Given the description of an element on the screen output the (x, y) to click on. 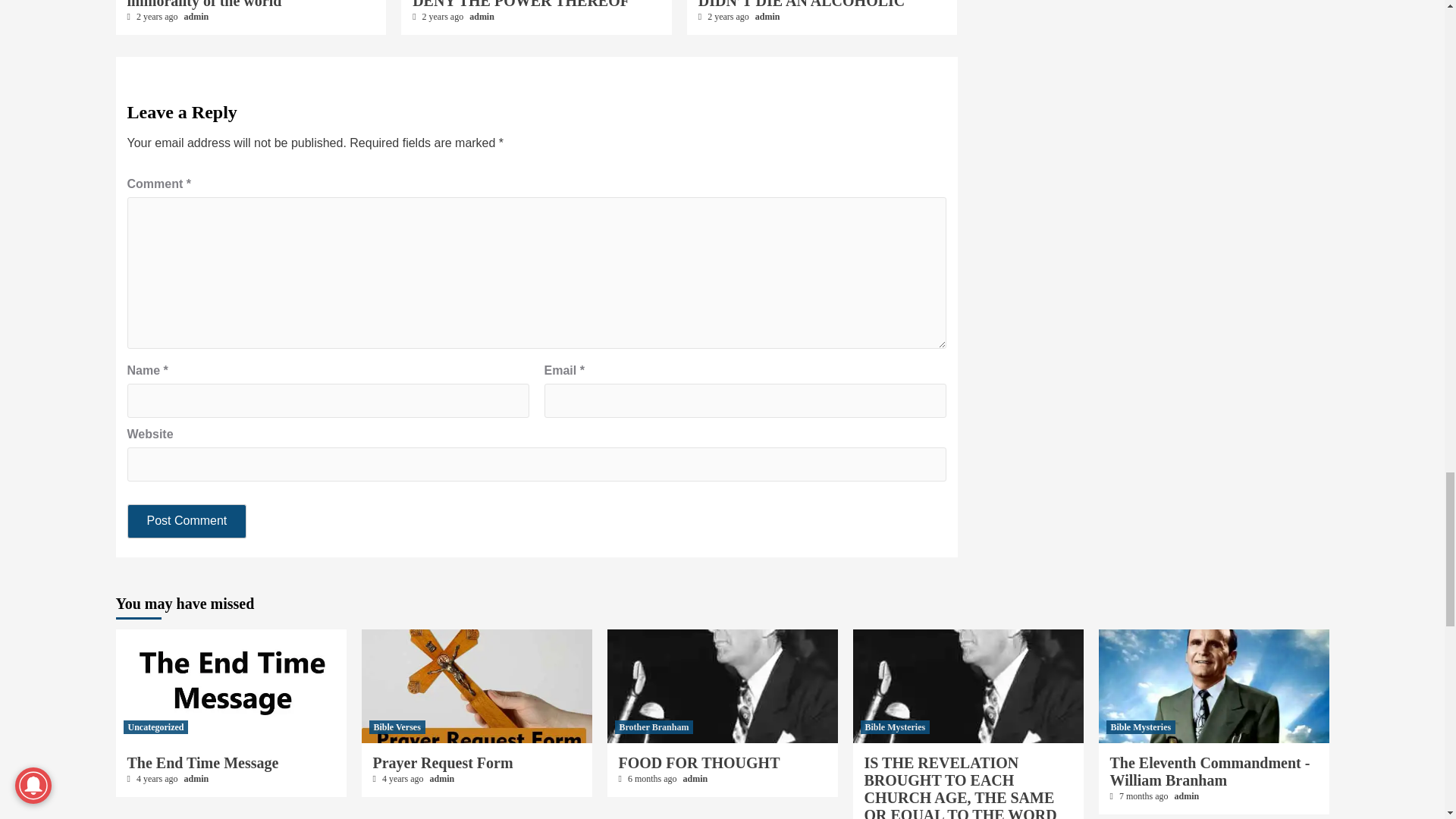
Post Comment (187, 521)
